Given the description of an element on the screen output the (x, y) to click on. 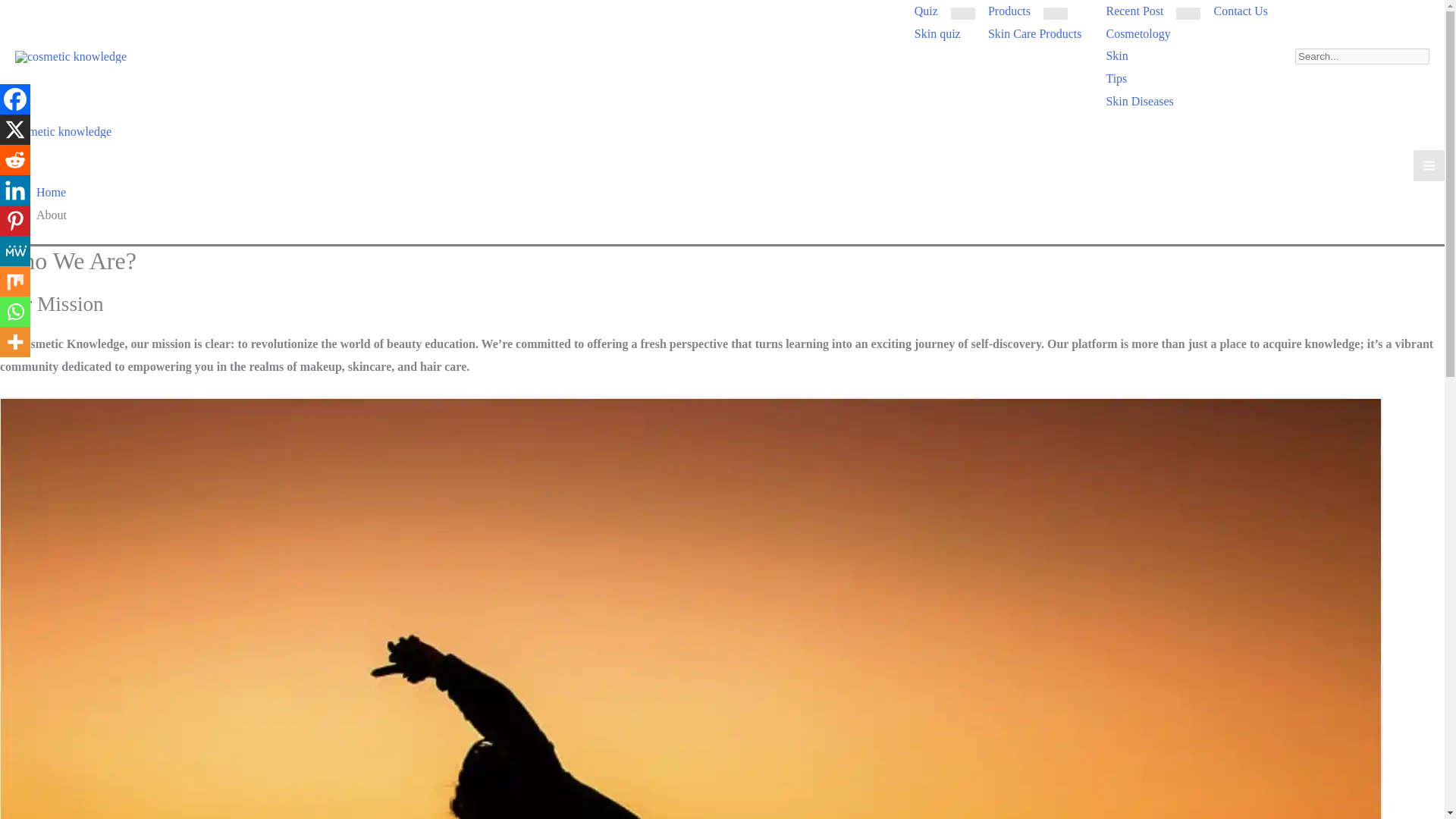
Linkedin (15, 190)
Home (50, 192)
Skin (1116, 56)
MeWe (15, 250)
More (15, 341)
Products (1008, 11)
Reddit (15, 159)
Whatsapp (15, 311)
Skin quiz (937, 33)
Quiz (926, 11)
Tips (1115, 78)
Pinterest (15, 220)
Mix (15, 281)
Contact Us (1240, 11)
X (15, 129)
